Given the description of an element on the screen output the (x, y) to click on. 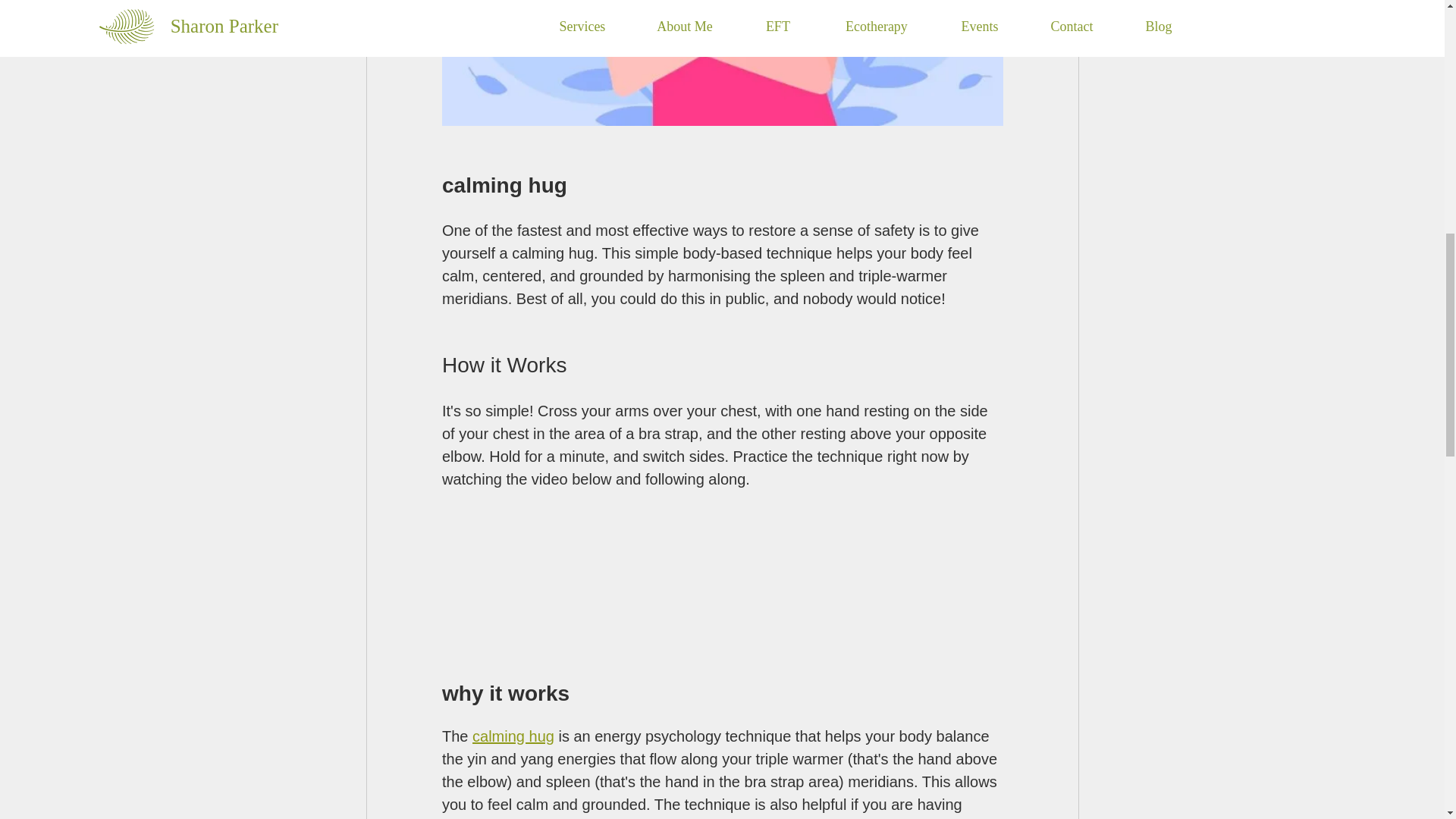
calming hug (512, 737)
